Given the description of an element on the screen output the (x, y) to click on. 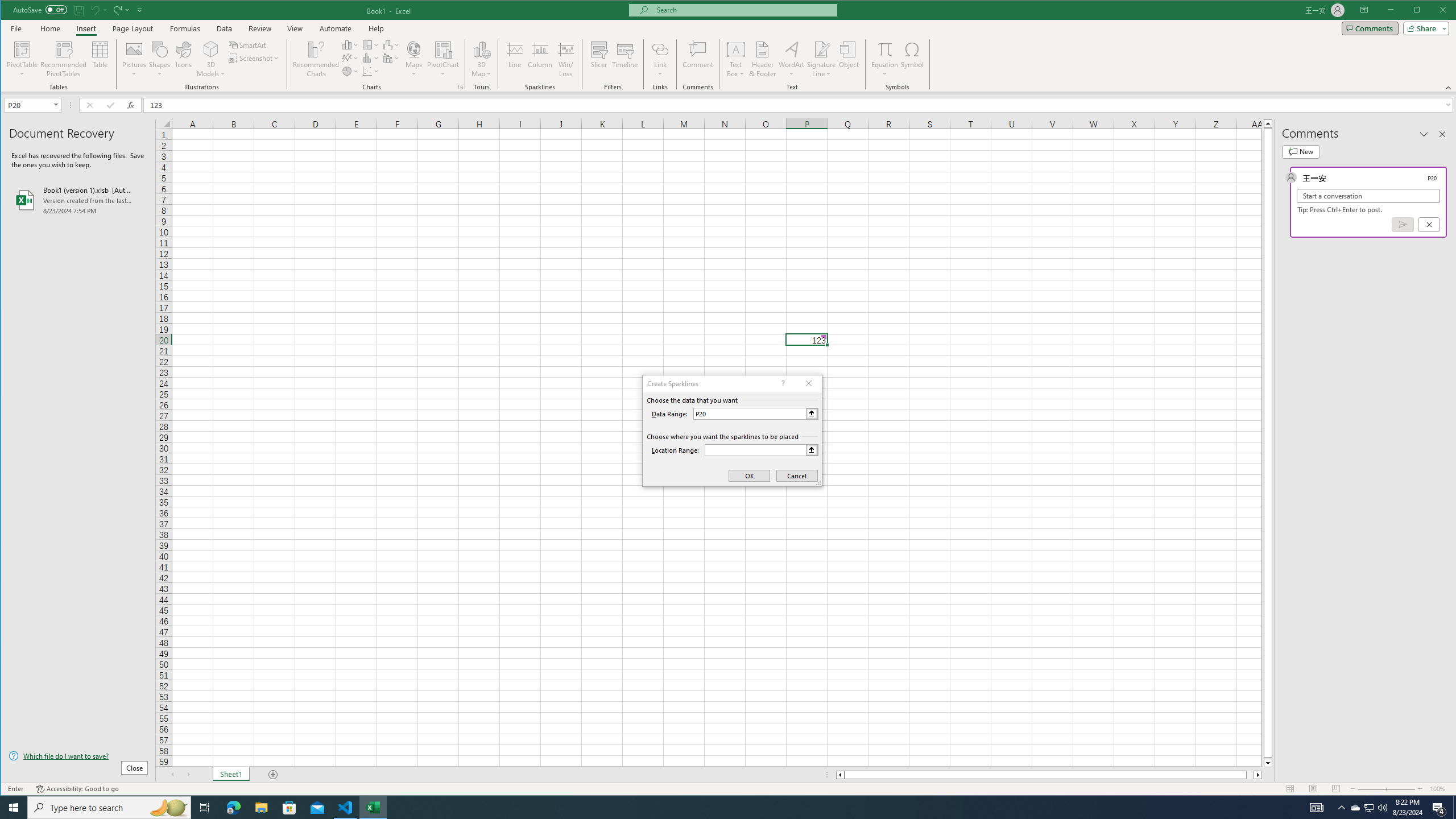
3D Map (481, 48)
WordArt (791, 59)
PivotTable (22, 59)
Insert Statistic Chart (371, 57)
Insert Line or Area Chart (350, 57)
Header & Footer... (762, 59)
